Given the description of an element on the screen output the (x, y) to click on. 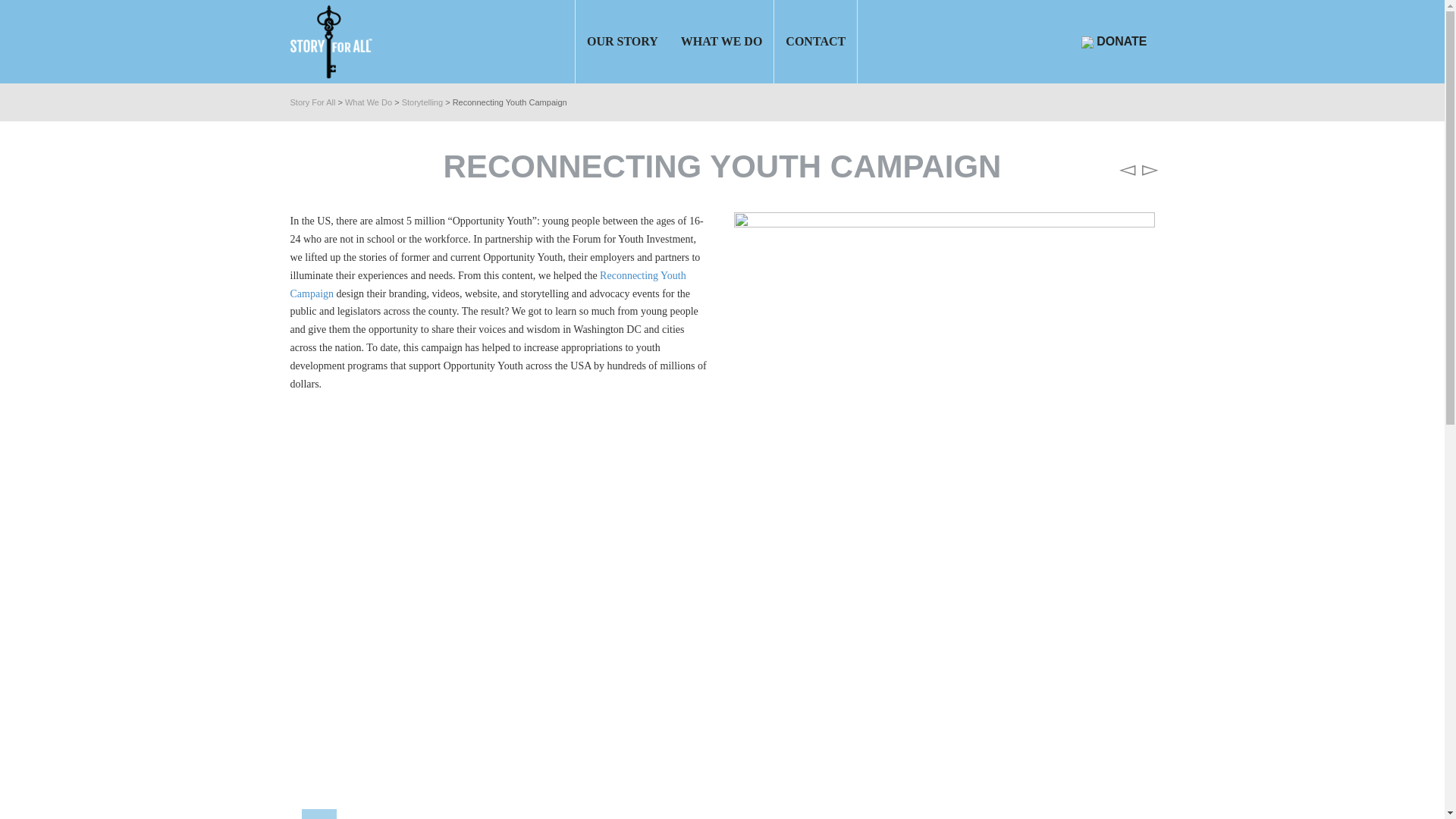
Reconnecting Youth Campaign (487, 284)
DONATE (1114, 41)
Go to the Storytelling Portfolio Categories archives. (421, 102)
Go to Story For All. (311, 102)
Story For All (311, 102)
CONTACT (815, 41)
OUR STORY (622, 41)
What We Do (368, 102)
Go to What We Do. (368, 102)
WHAT WE DO (721, 41)
